Given the description of an element on the screen output the (x, y) to click on. 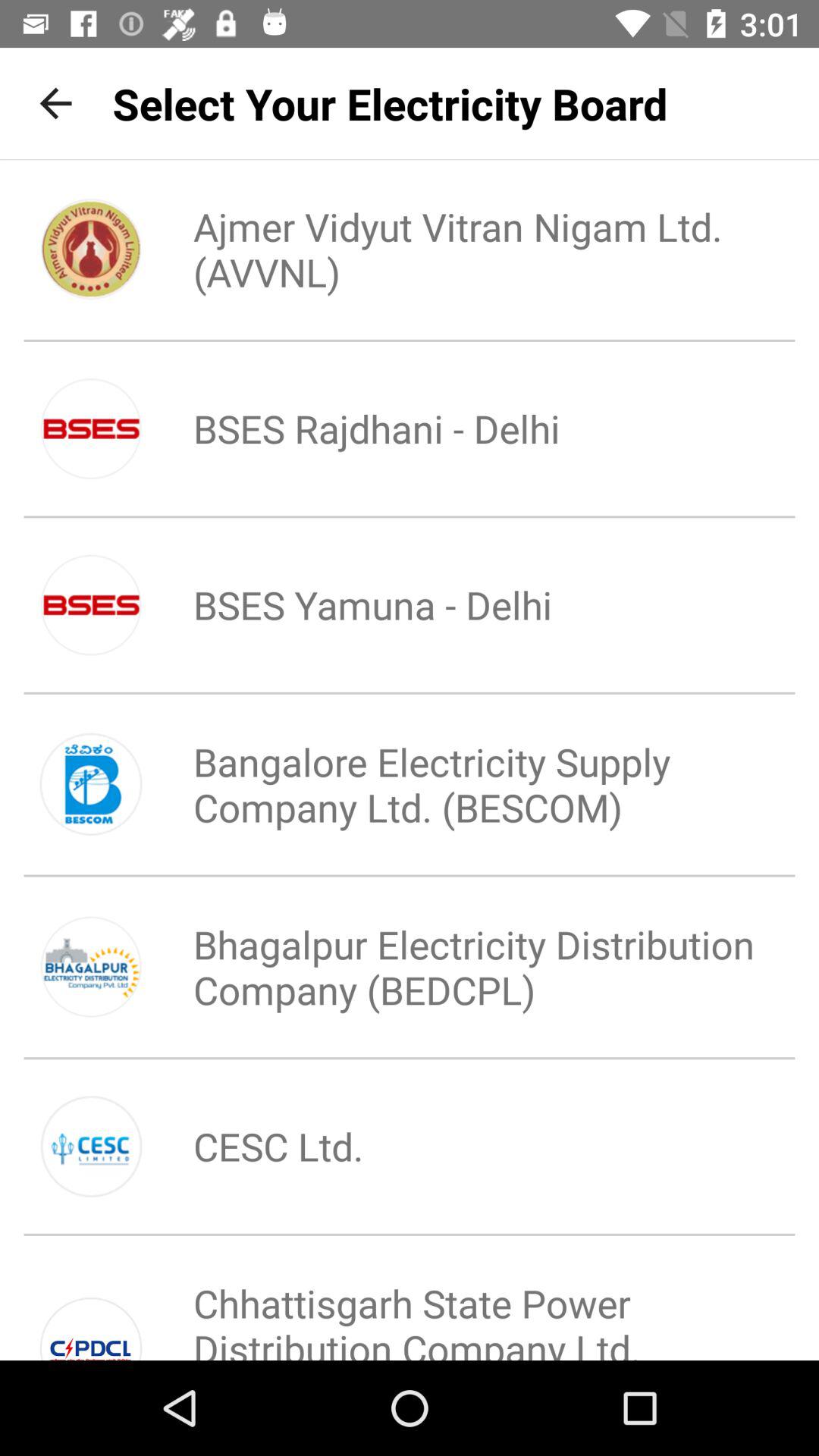
jump to chhattisgarh state power (460, 1305)
